Given the description of an element on the screen output the (x, y) to click on. 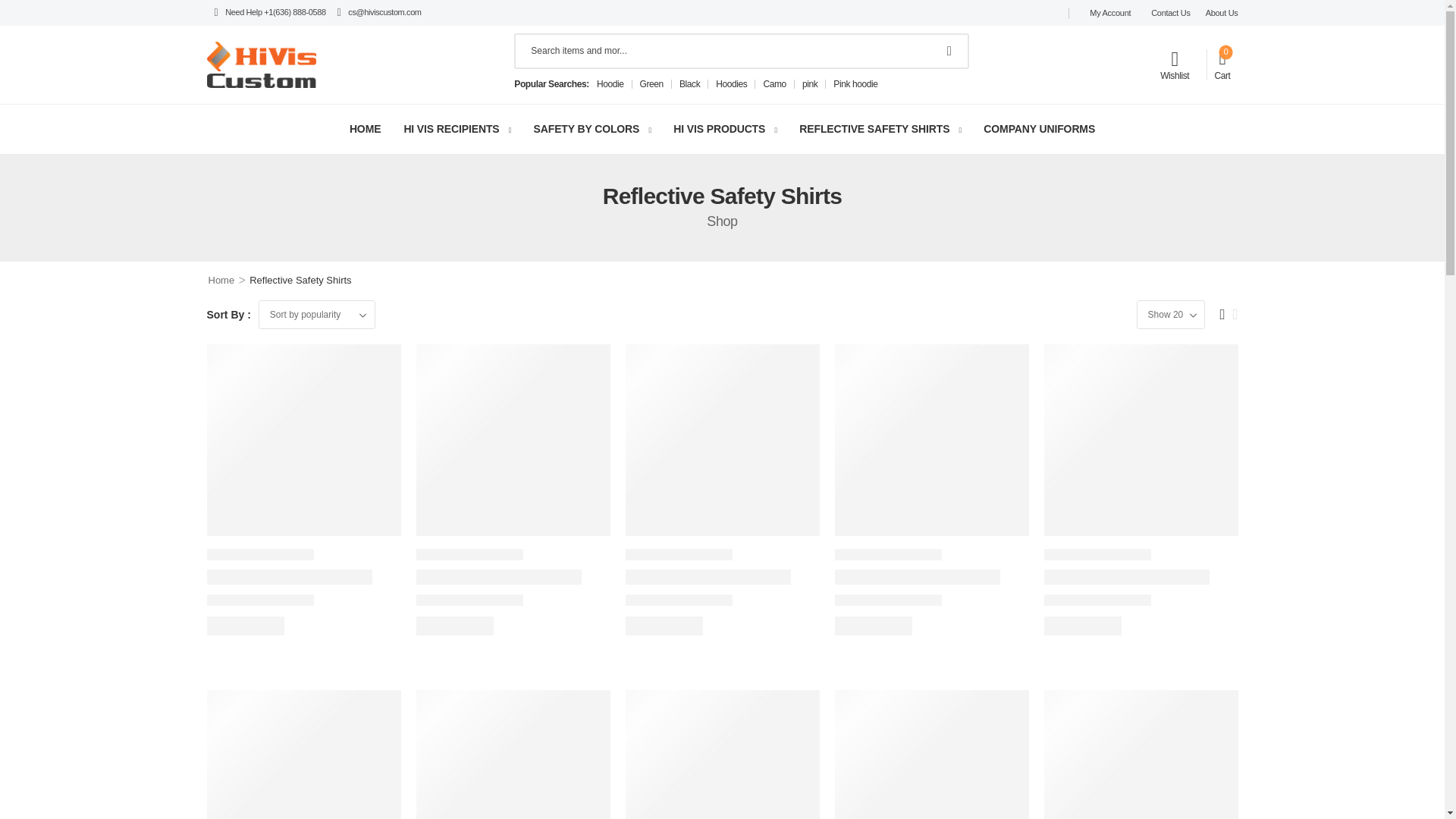
Camo (773, 83)
HI VIS PRODUCTS (718, 129)
pink (809, 83)
HI VIS RECIPIENTS (451, 129)
REFLECTIVE SAFETY SHIRTS (874, 129)
Hoodies (730, 83)
Hi Vis Custom - Custom High Visibility Clothing (260, 63)
HOME (364, 129)
Contact Us (1167, 12)
Home (221, 279)
